Given the description of an element on the screen output the (x, y) to click on. 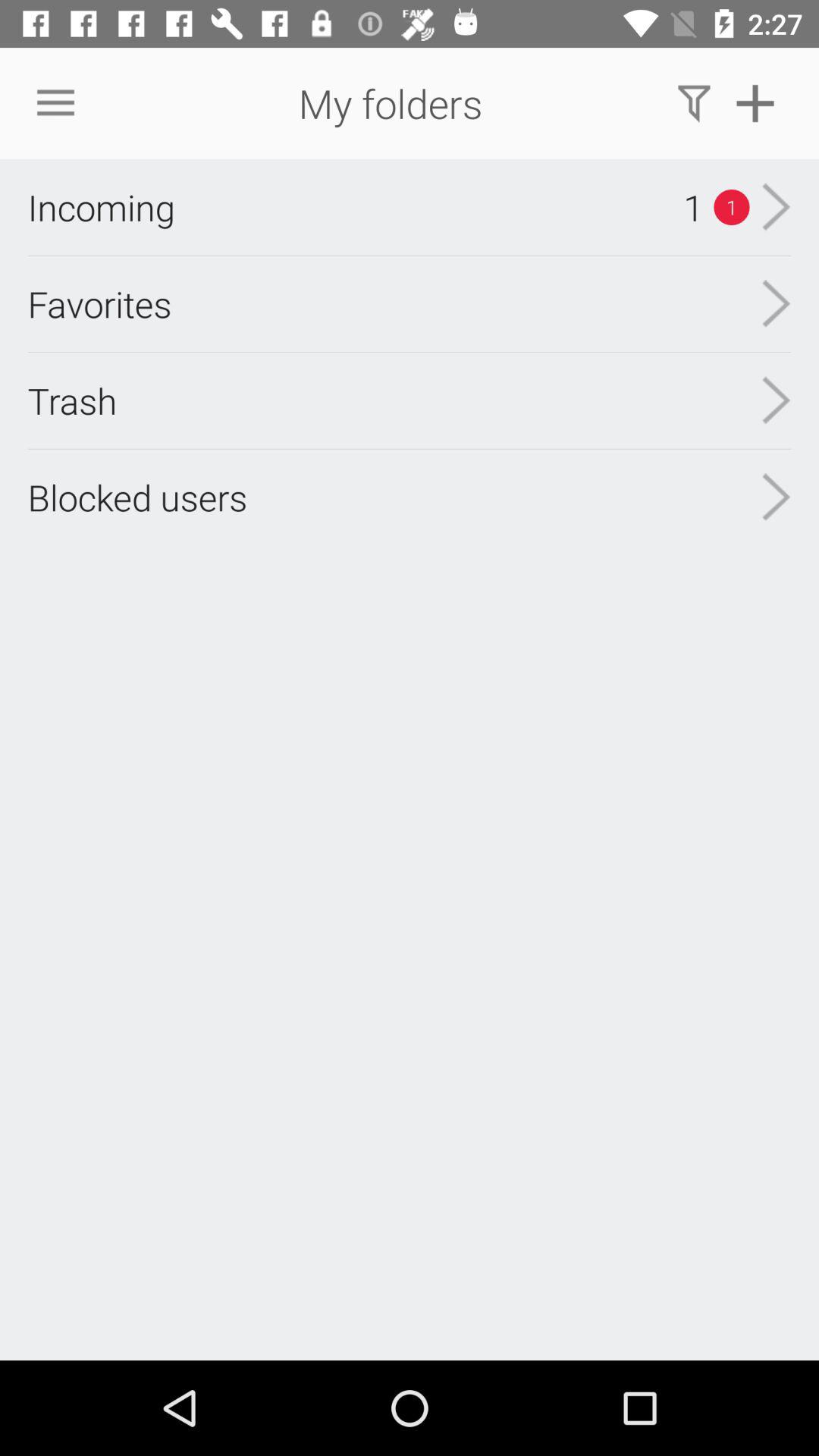
select the item to the left of the my folders item (55, 103)
